Given the description of an element on the screen output the (x, y) to click on. 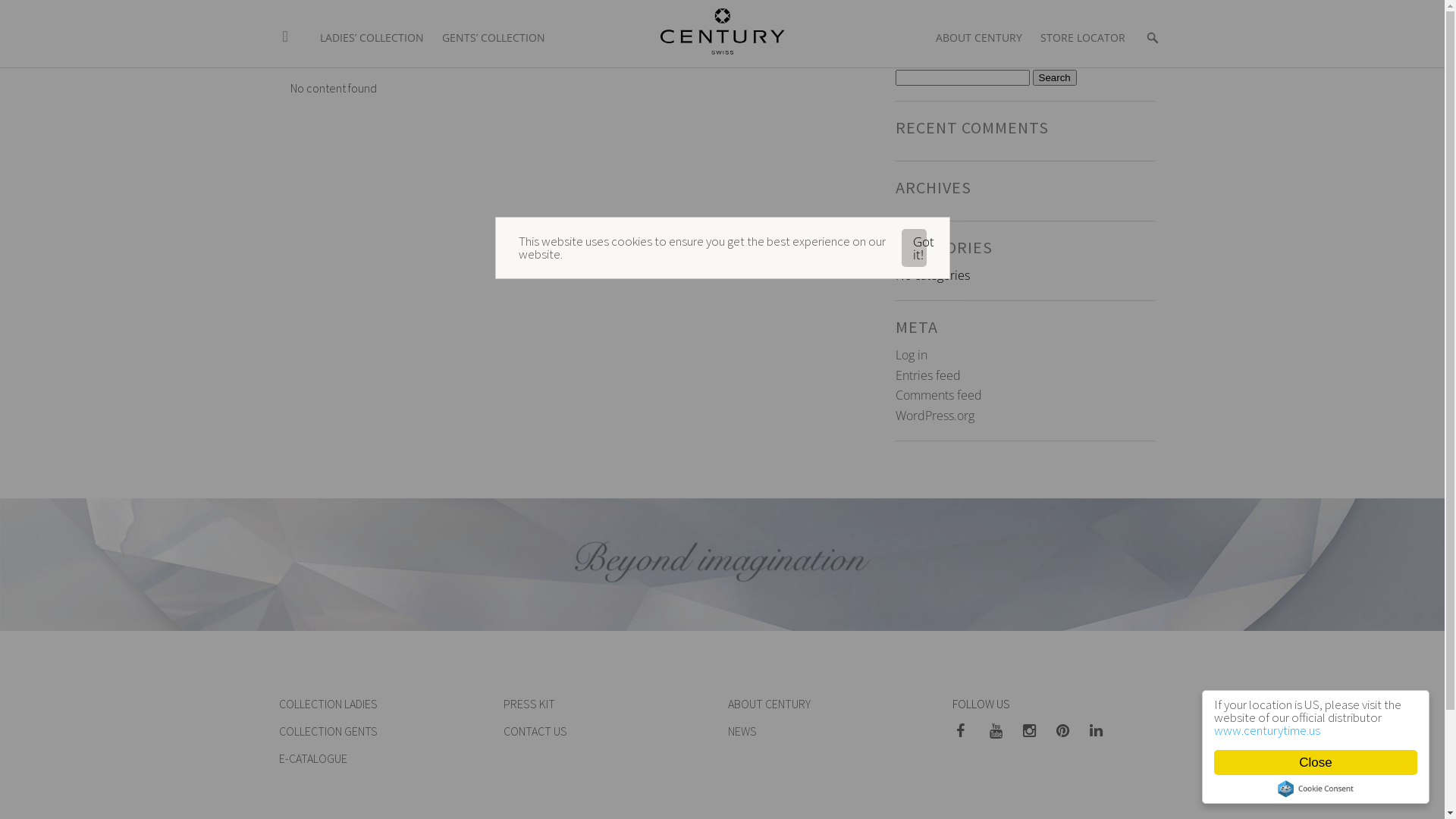
Comments feed Element type: text (937, 394)
Entries feed Element type: text (927, 375)
COLLECTION GENTS Element type: text (328, 730)
COLLECTION LADIES Element type: text (328, 703)
ABOUT CENTURY Element type: text (978, 28)
ABOUT CENTURY Element type: text (769, 703)
Pinterest Element type: text (1067, 731)
E-CATALOGUE Element type: text (313, 757)
Instagram Element type: text (1034, 731)
www.centurytime.us Element type: text (1267, 729)
STORE LOCATOR Element type: text (1082, 28)
NEWS Element type: text (742, 730)
Got it! Element type: text (913, 247)
Cookie Consent plugin for the EU cookie law Element type: text (1315, 788)
Log in Element type: text (910, 354)
Youtube Element type: text (1000, 731)
Search Element type: text (1054, 77)
facebook Element type: text (967, 731)
CONTACT US Element type: text (535, 730)
Linkedin Element type: text (1100, 731)
watch finder search Element type: hover (1152, 28)
PRESS KIT Element type: text (529, 703)
WordPress.org Element type: text (933, 415)
Close Element type: text (1315, 762)
